Given the description of an element on the screen output the (x, y) to click on. 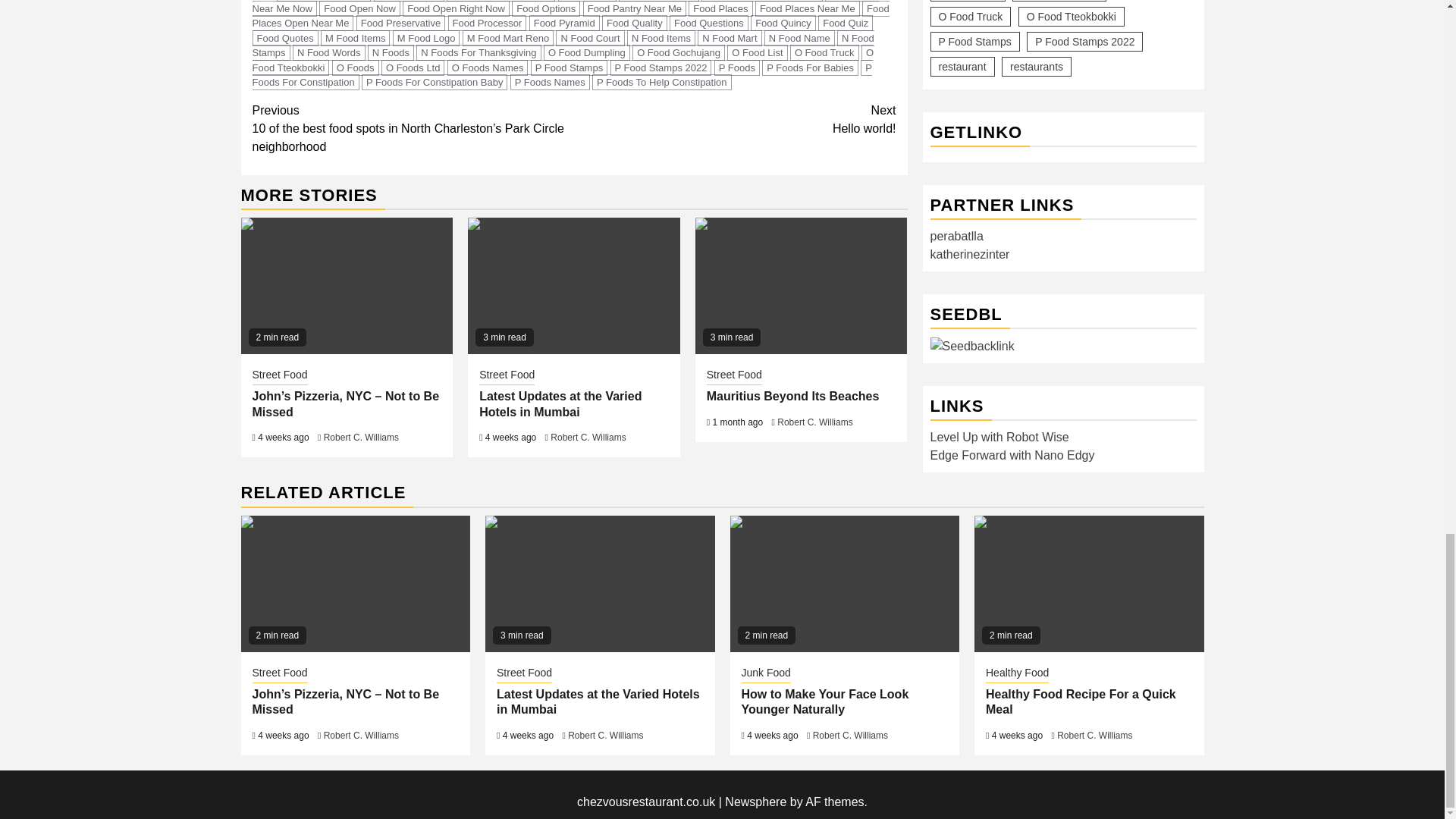
Latest Updates at the Varied Hotels in Mumbai (599, 583)
Food Near Me Now (323, 0)
Food Open Now (359, 8)
Food Options (545, 8)
Food Open Near Me Now (565, 8)
How to Make Your Face Look Younger Naturally (844, 583)
Food Preservative (400, 23)
Seedbacklink (971, 321)
Latest Updates at the Varied Hotels in Mumbai (573, 285)
Food Places Near Me (807, 8)
